Given the description of an element on the screen output the (x, y) to click on. 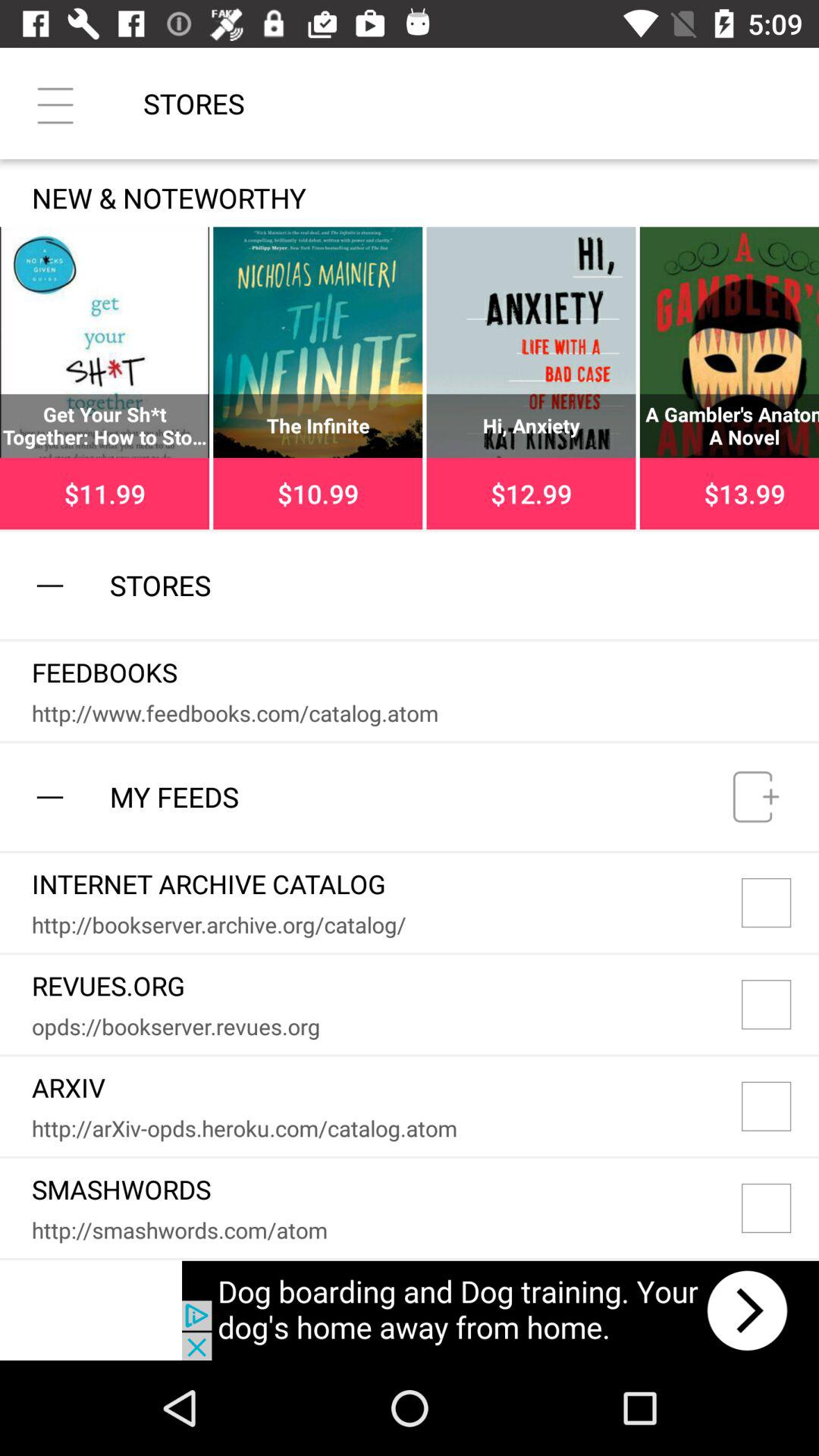
view advertisement (500, 1310)
